Given the description of an element on the screen output the (x, y) to click on. 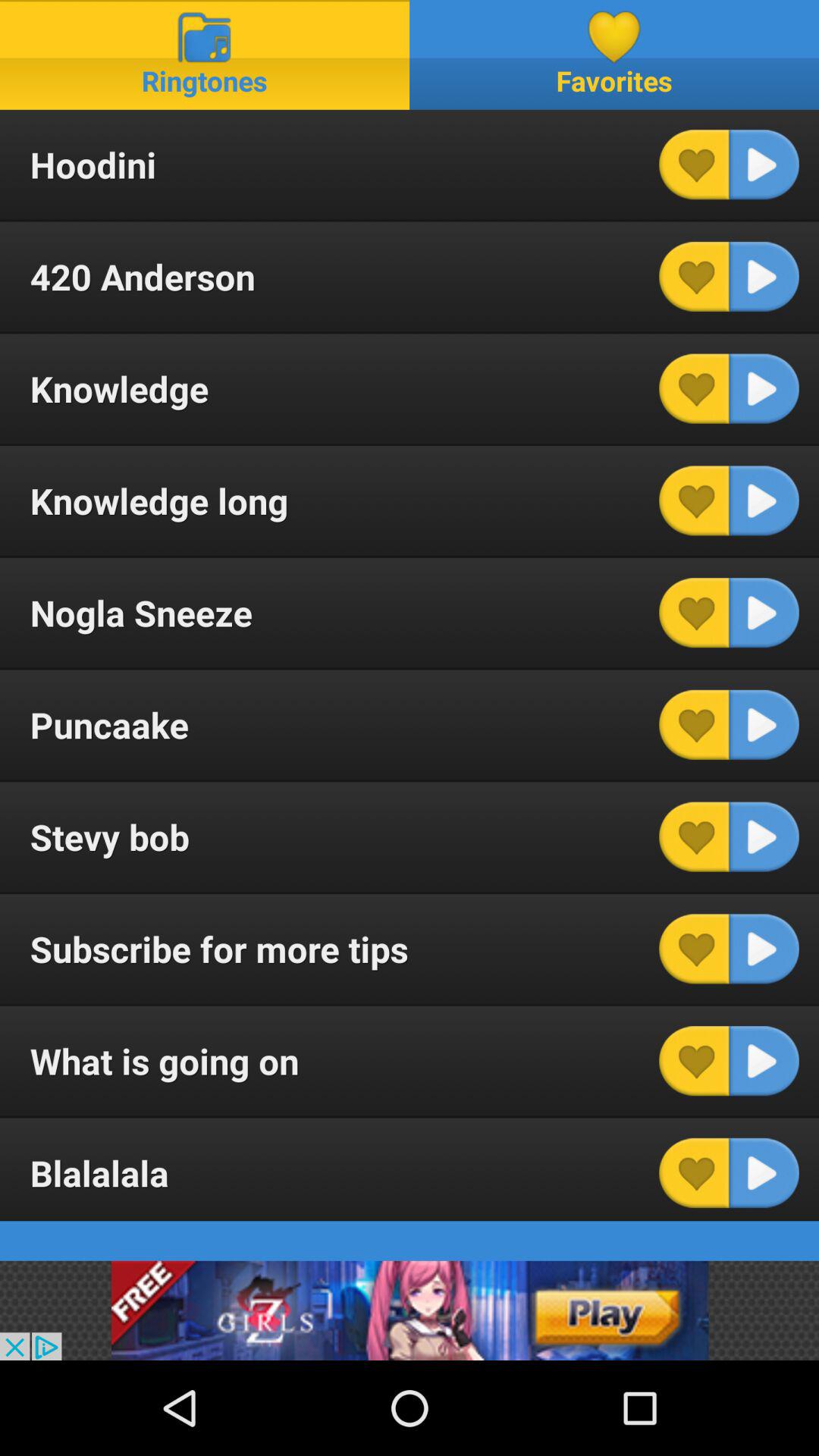
toggle favorite (694, 948)
